Given the description of an element on the screen output the (x, y) to click on. 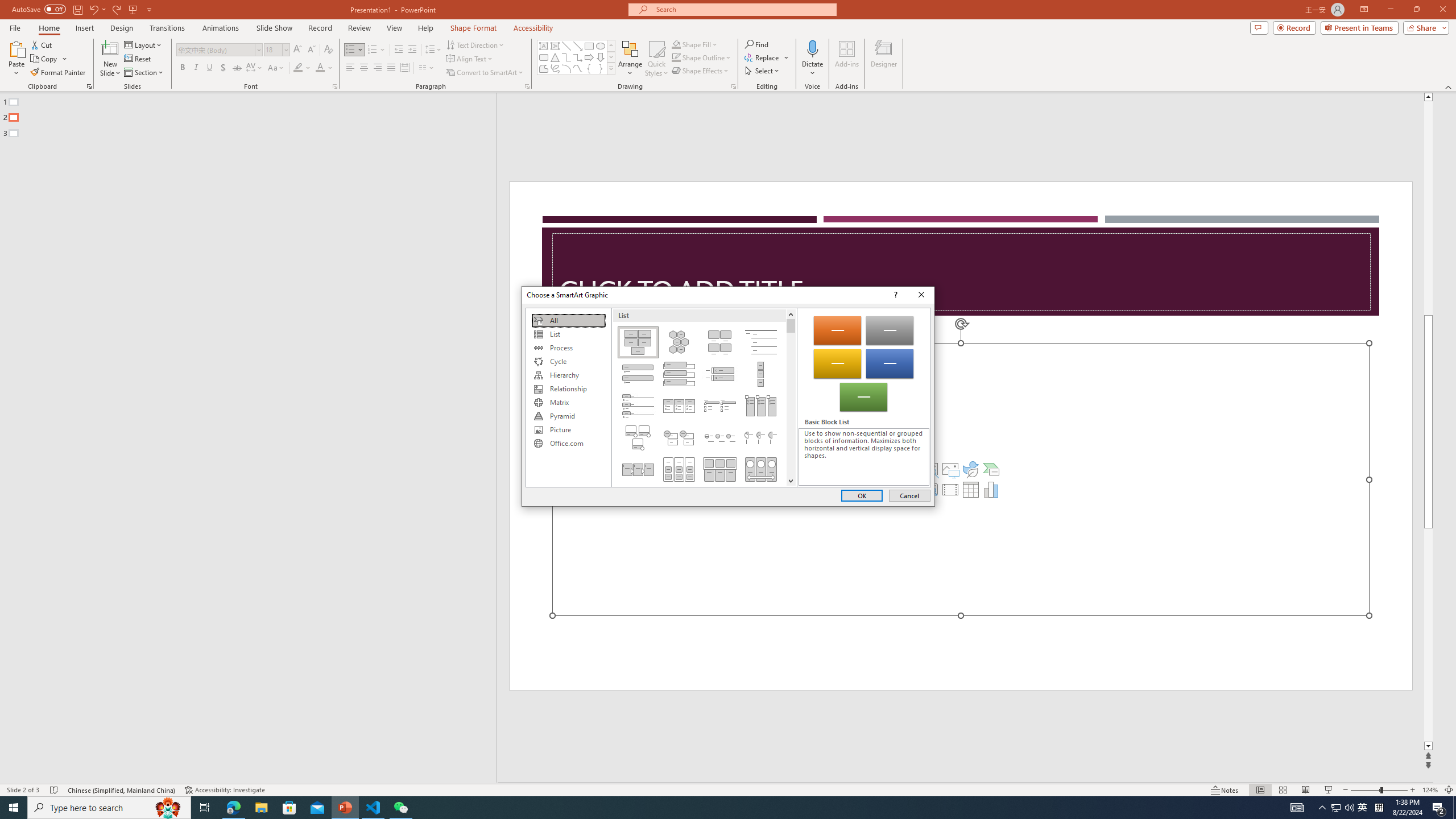
Insert Table (970, 489)
OK (861, 495)
Horizontal Picture List (719, 469)
Matrix (568, 402)
Office.com (568, 443)
Continuous Picture List (761, 469)
Hierarchy (568, 375)
